Given the description of an element on the screen output the (x, y) to click on. 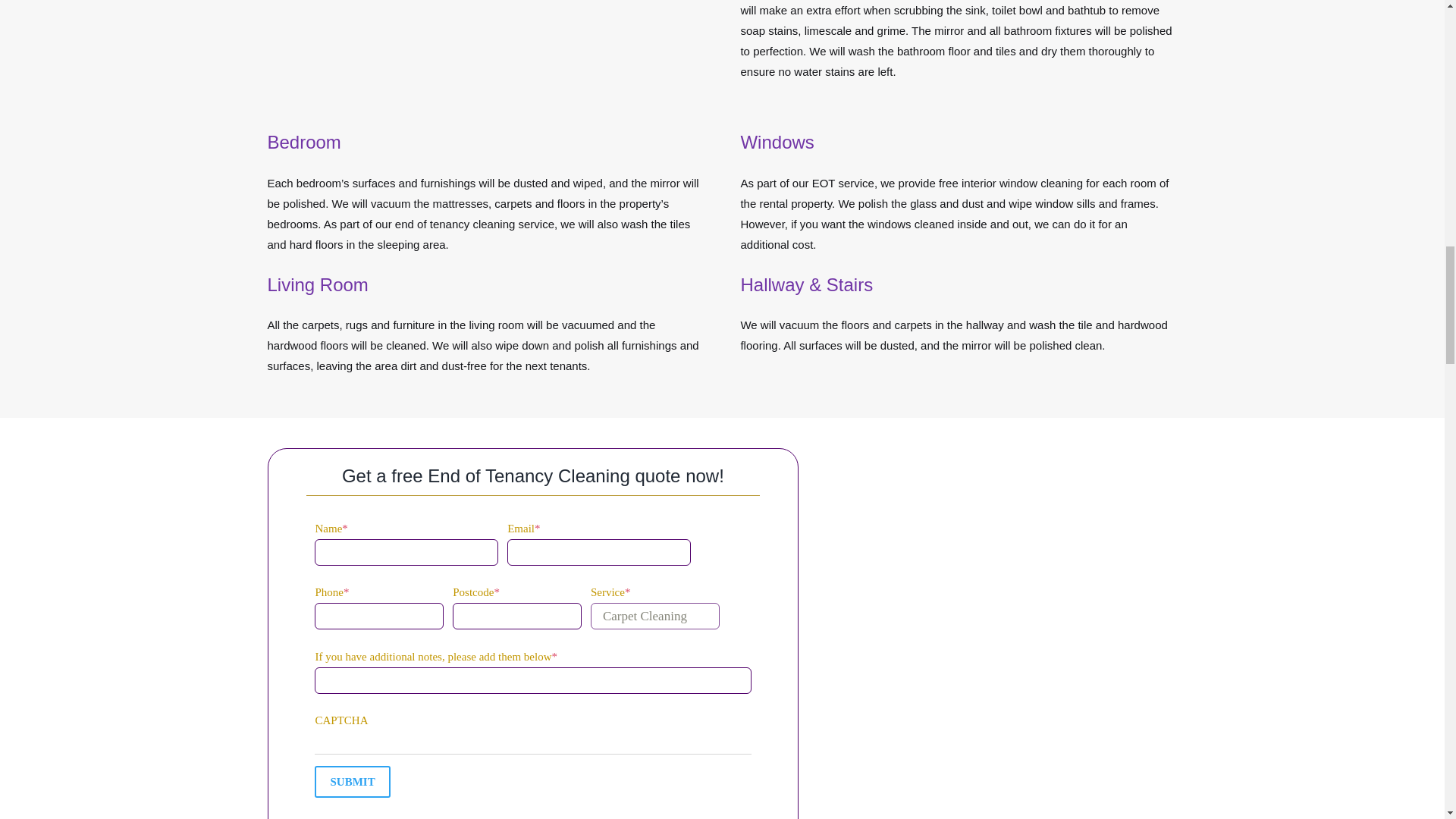
eot services geo pages process (484, 34)
Submit (352, 781)
